Given the description of an element on the screen output the (x, y) to click on. 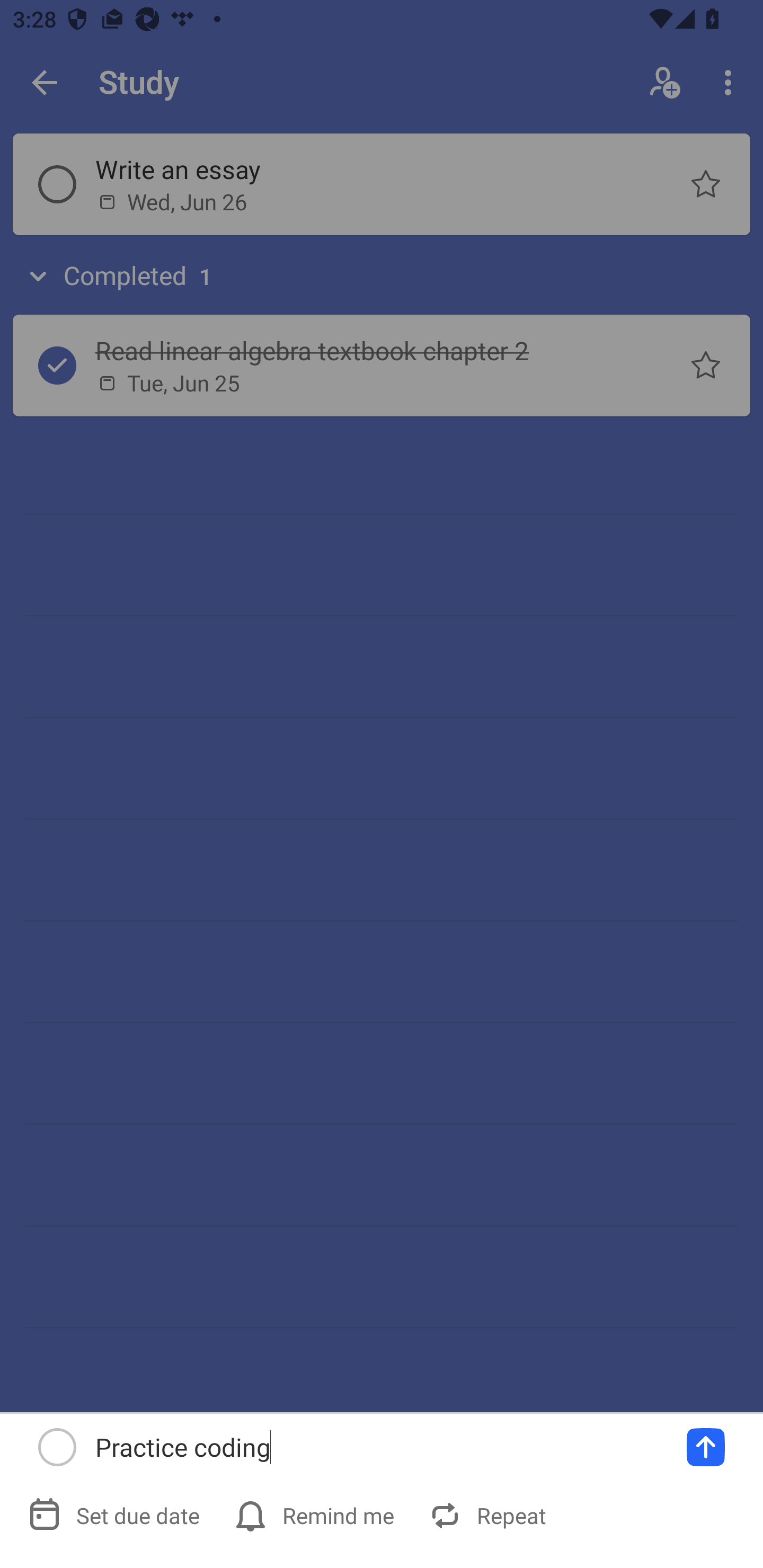
Repeat (489, 1515)
